Given the description of an element on the screen output the (x, y) to click on. 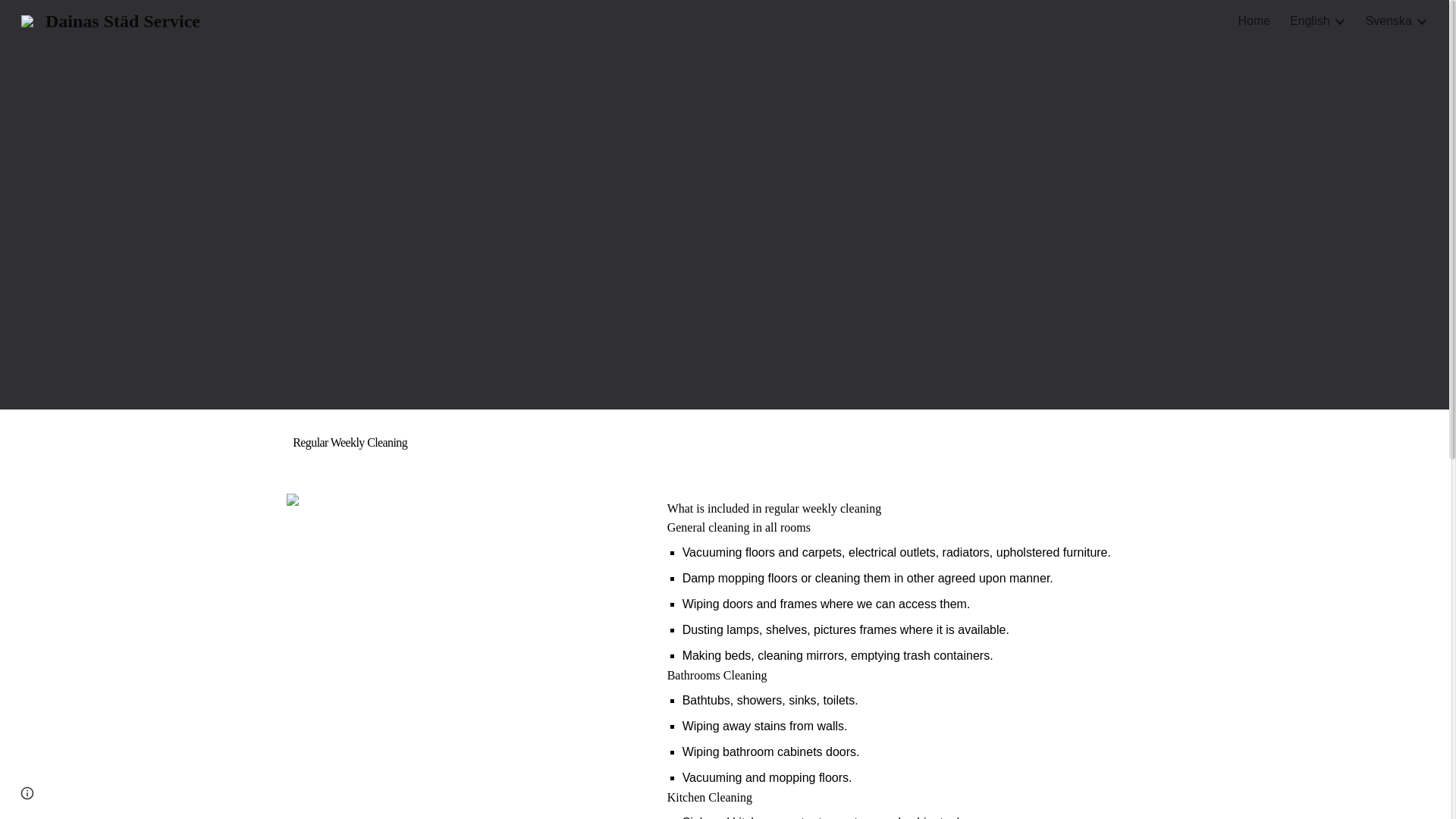
English (1309, 20)
Home (1253, 20)
